Given the description of an element on the screen output the (x, y) to click on. 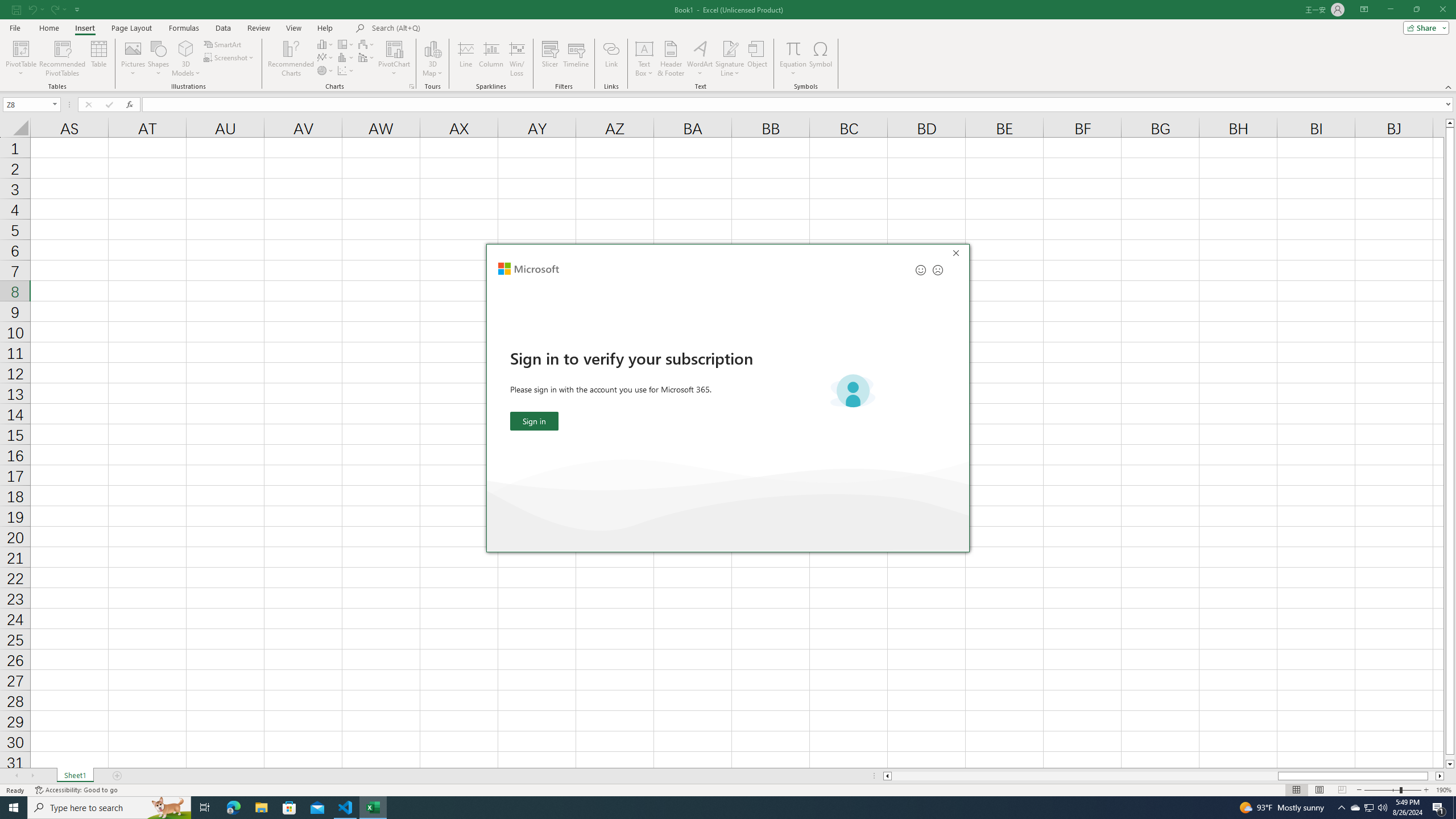
Line down (1449, 764)
Symbol... (821, 58)
Action Center, 1 new notification (1439, 807)
Page down (1449, 757)
Zoom Out (1381, 790)
Column right (1440, 775)
Minimize (1390, 9)
Microsoft Store (289, 807)
Equation (793, 58)
Show desktop (1454, 807)
Recommended Charts (411, 85)
Text Box (643, 58)
Insert Statistic Chart (346, 56)
